Given the description of an element on the screen output the (x, y) to click on. 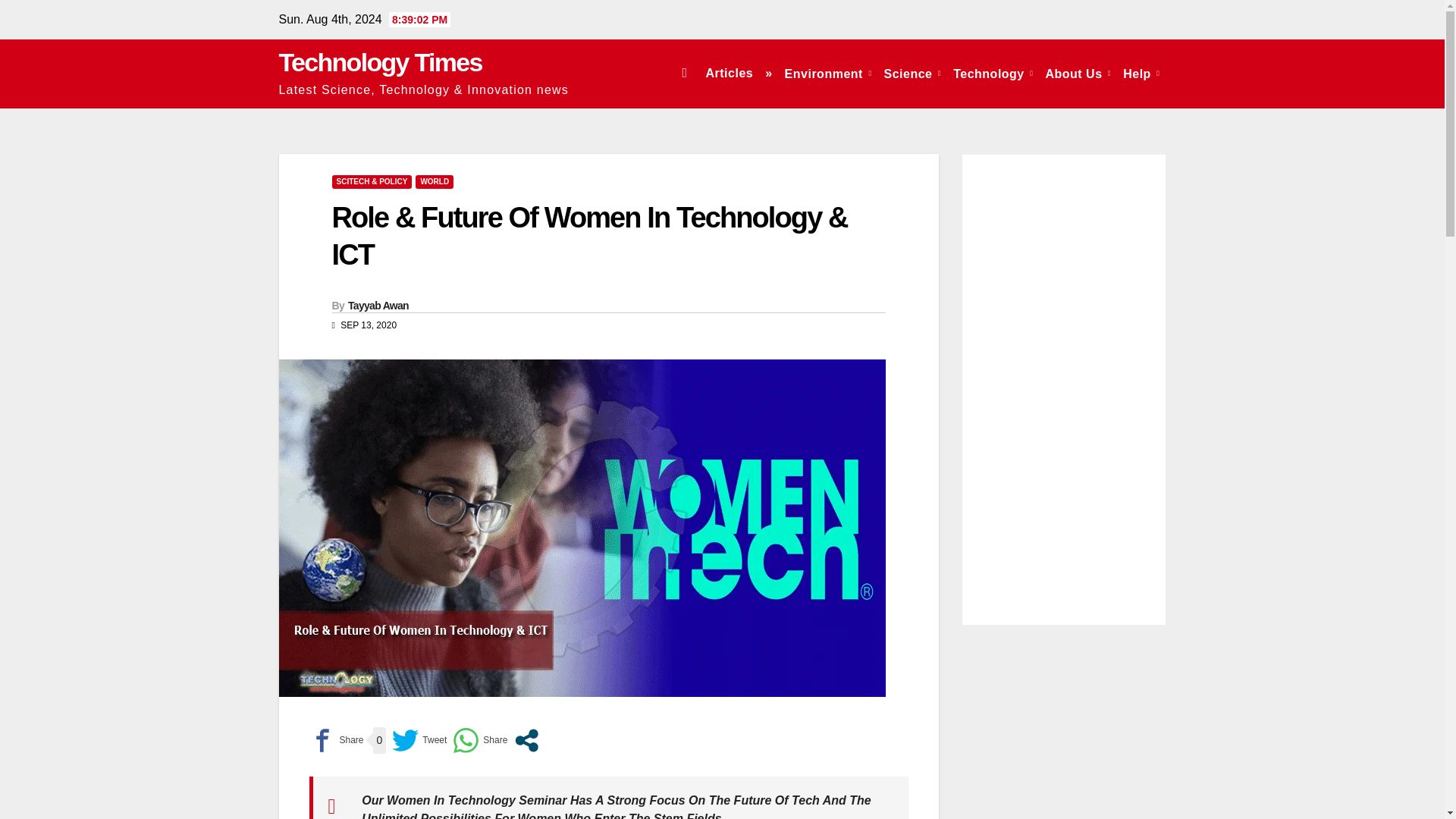
Environment (827, 73)
Technology Times (380, 61)
Science (912, 73)
Science (912, 73)
Technology (993, 73)
Technology (993, 73)
Environment (827, 73)
About Us (1077, 73)
